Given the description of an element on the screen output the (x, y) to click on. 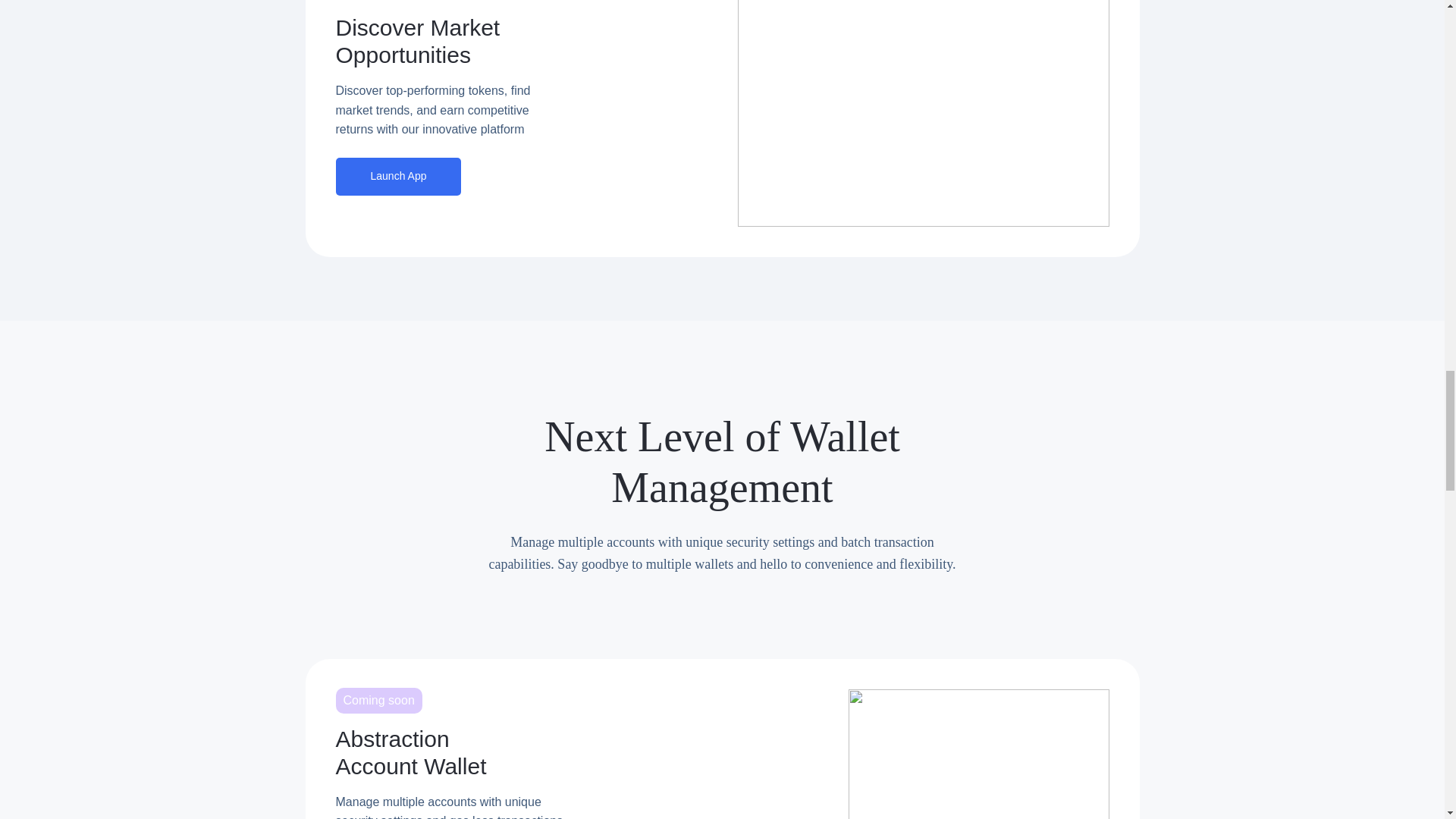
Launch App (397, 176)
